Given the description of an element on the screen output the (x, y) to click on. 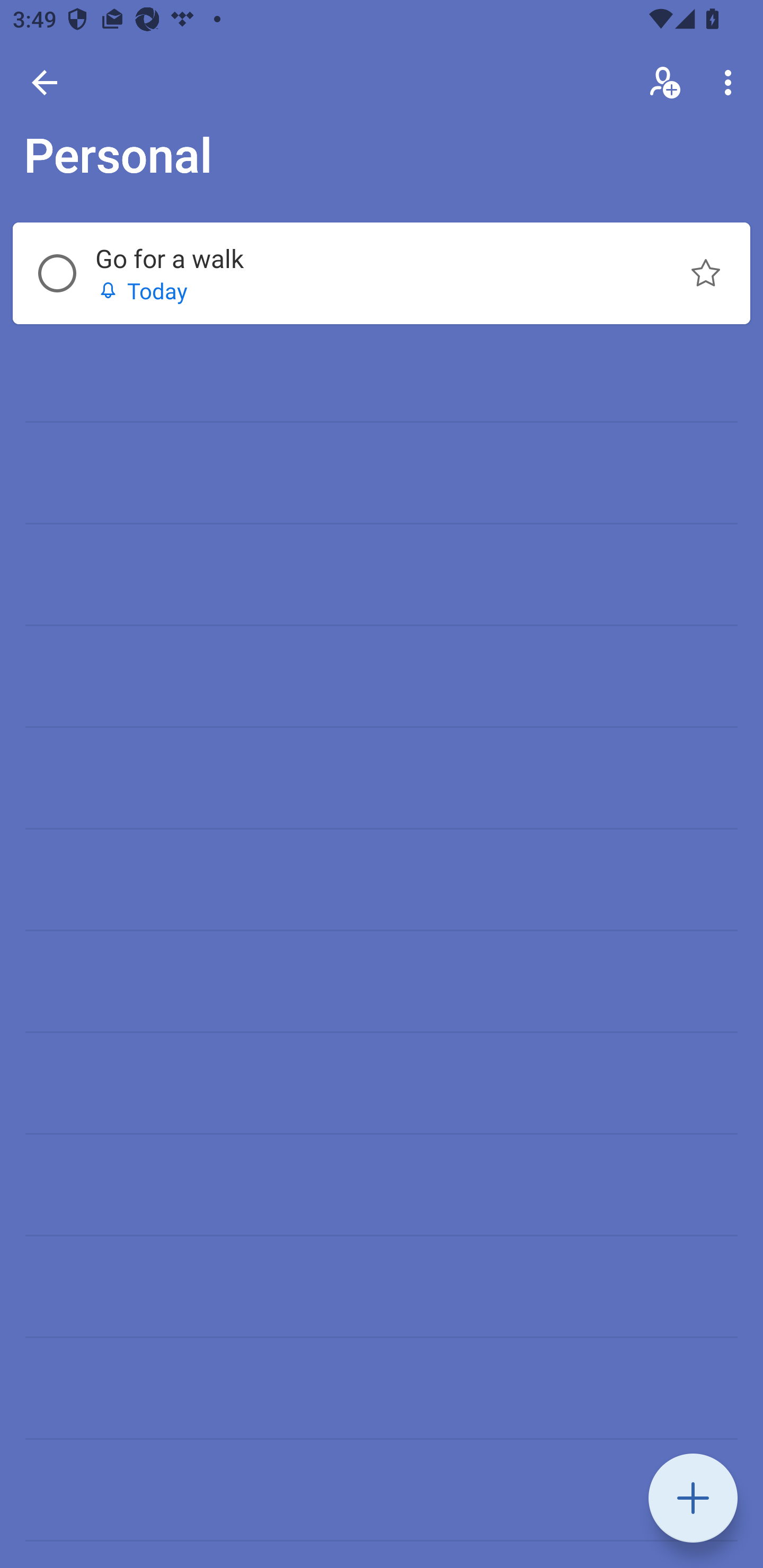
Add a task (692, 1497)
